Given the description of an element on the screen output the (x, y) to click on. 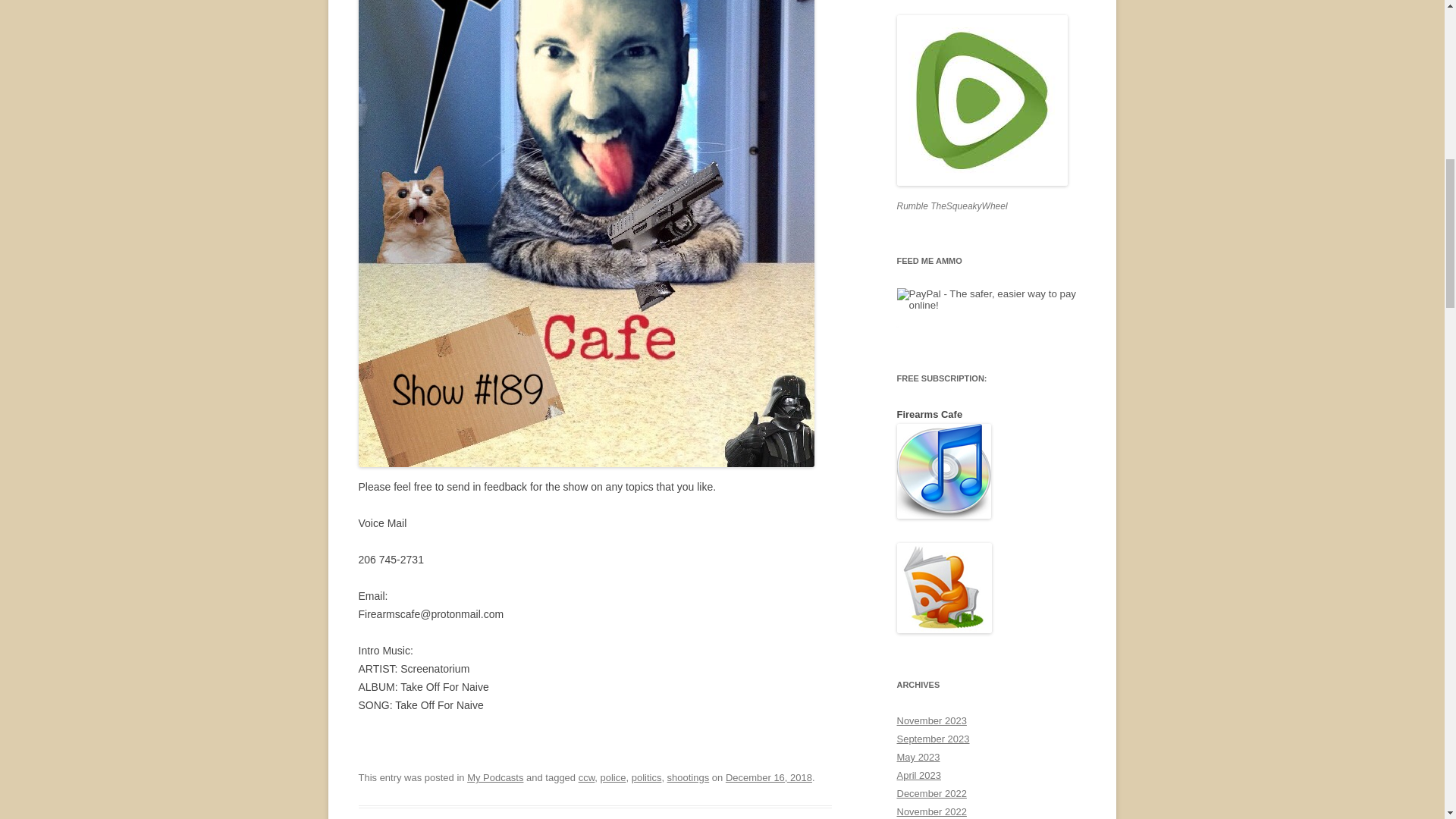
May 2023 (917, 756)
November 2023 (931, 720)
December 2022 (931, 793)
My Podcasts (494, 777)
December 16, 2018 (768, 777)
6:33 pm (768, 777)
shootings (688, 777)
politics (646, 777)
April 2023 (918, 775)
November 2022 (931, 811)
